Given the description of an element on the screen output the (x, y) to click on. 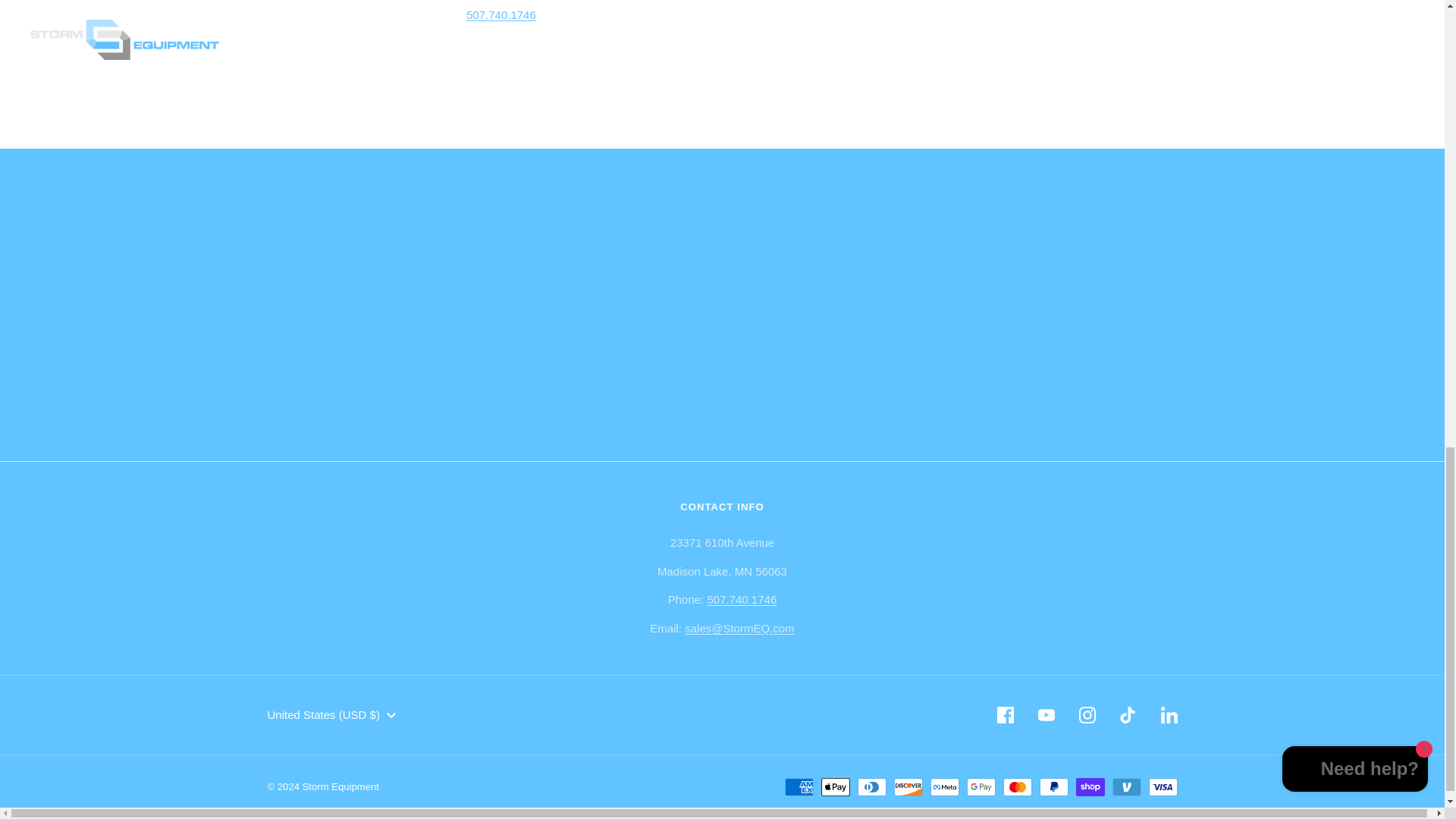
Storm Equipment Phone Number (500, 14)
Storm Equipment email (738, 627)
Down (390, 715)
Storm Equipment Phone Number (741, 599)
